Given the description of an element on the screen output the (x, y) to click on. 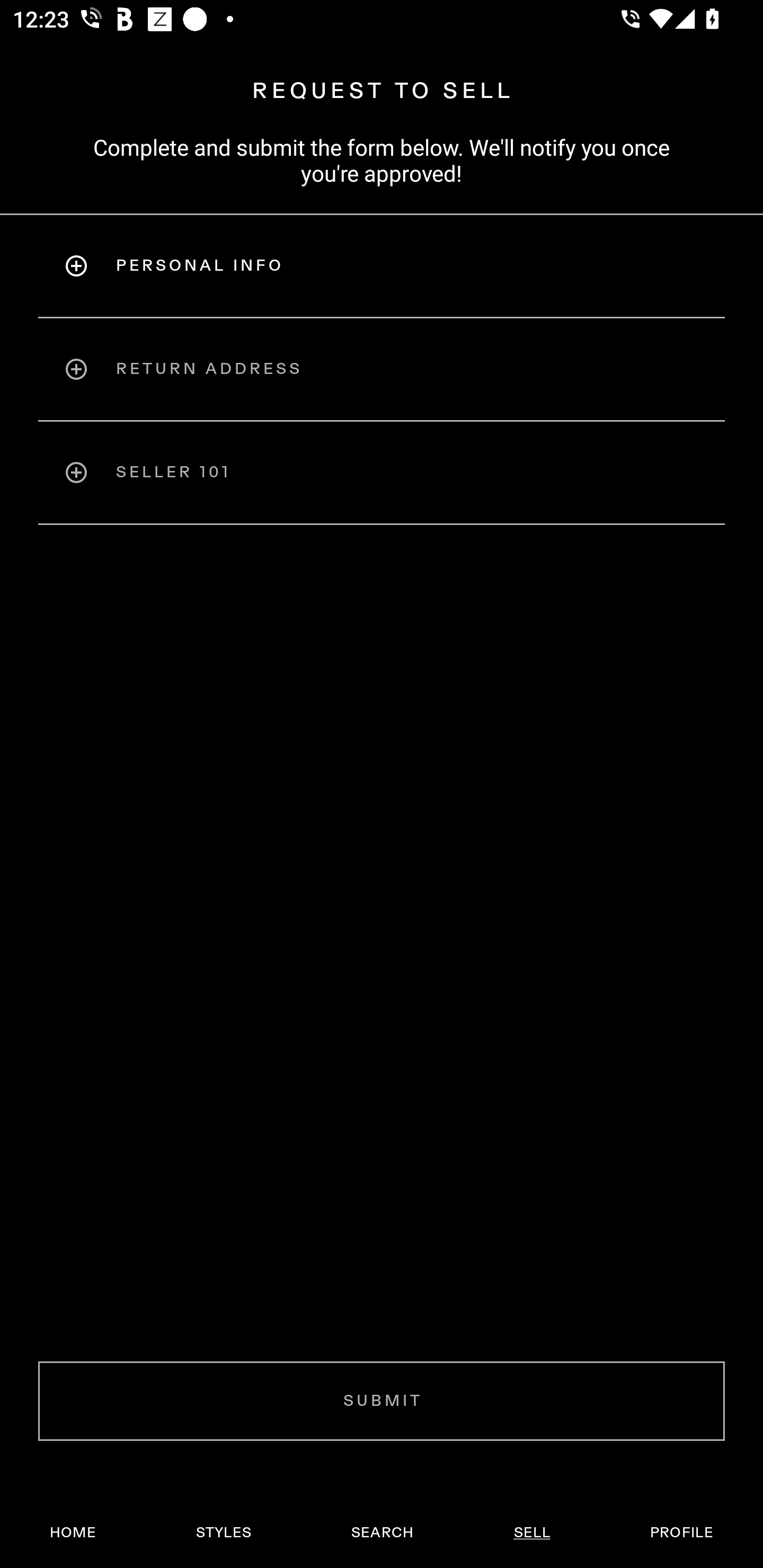
PERSONAL INFO (381, 265)
RETURN ADDRESS (381, 369)
SELLER 101 (381, 472)
SUBMIT (381, 1400)
HOME (72, 1532)
STYLES (222, 1532)
SEARCH (381, 1532)
SELL (531, 1532)
PROFILE (681, 1532)
